Given the description of an element on the screen output the (x, y) to click on. 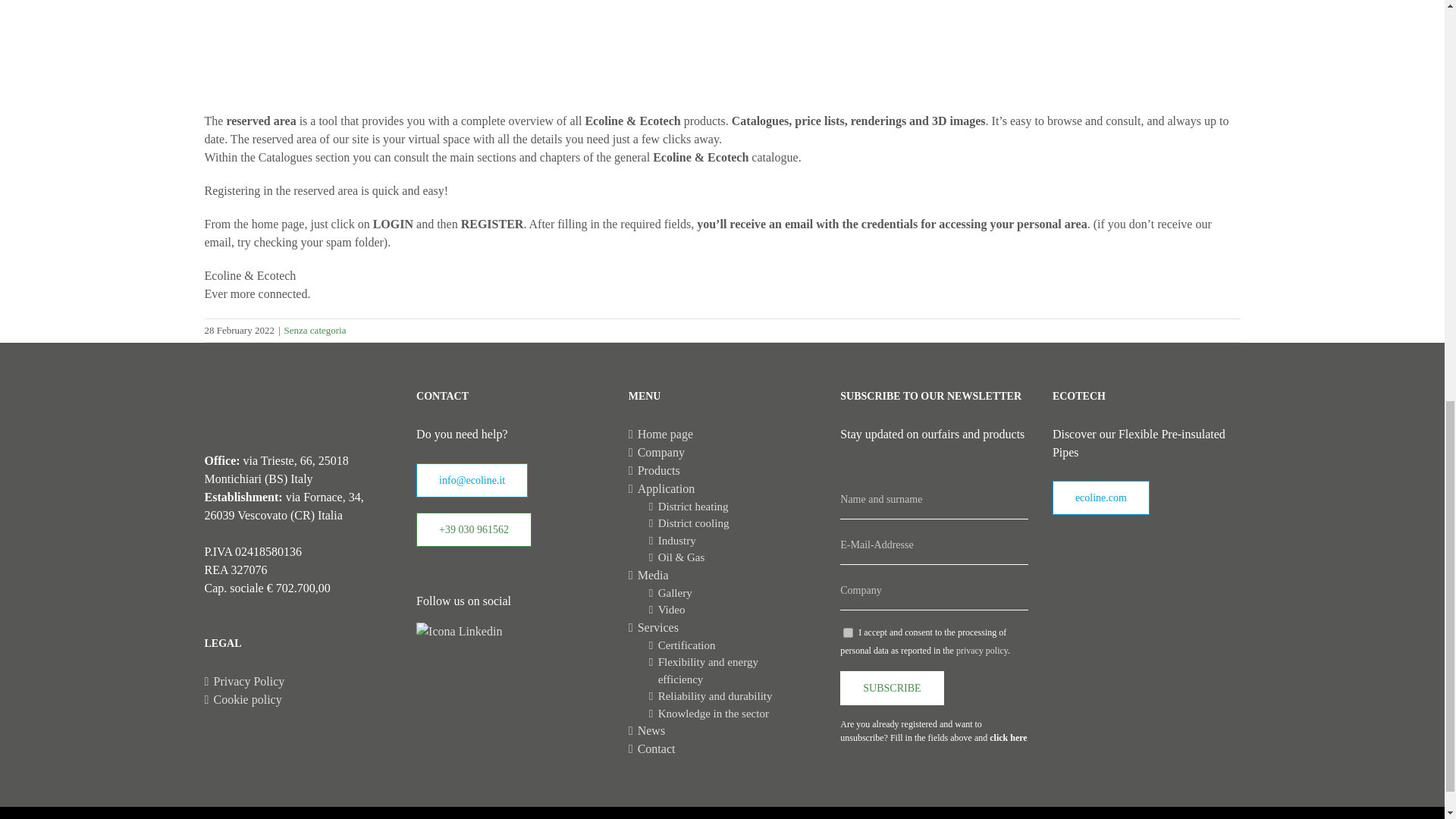
Home page (723, 434)
Cookie policy (299, 700)
Privacy Policy (299, 681)
Senza categoria (314, 329)
Company (723, 452)
SUBSCRIBE (891, 687)
Icona Linkedin (459, 631)
Home page (723, 434)
1 (848, 633)
